Given the description of an element on the screen output the (x, y) to click on. 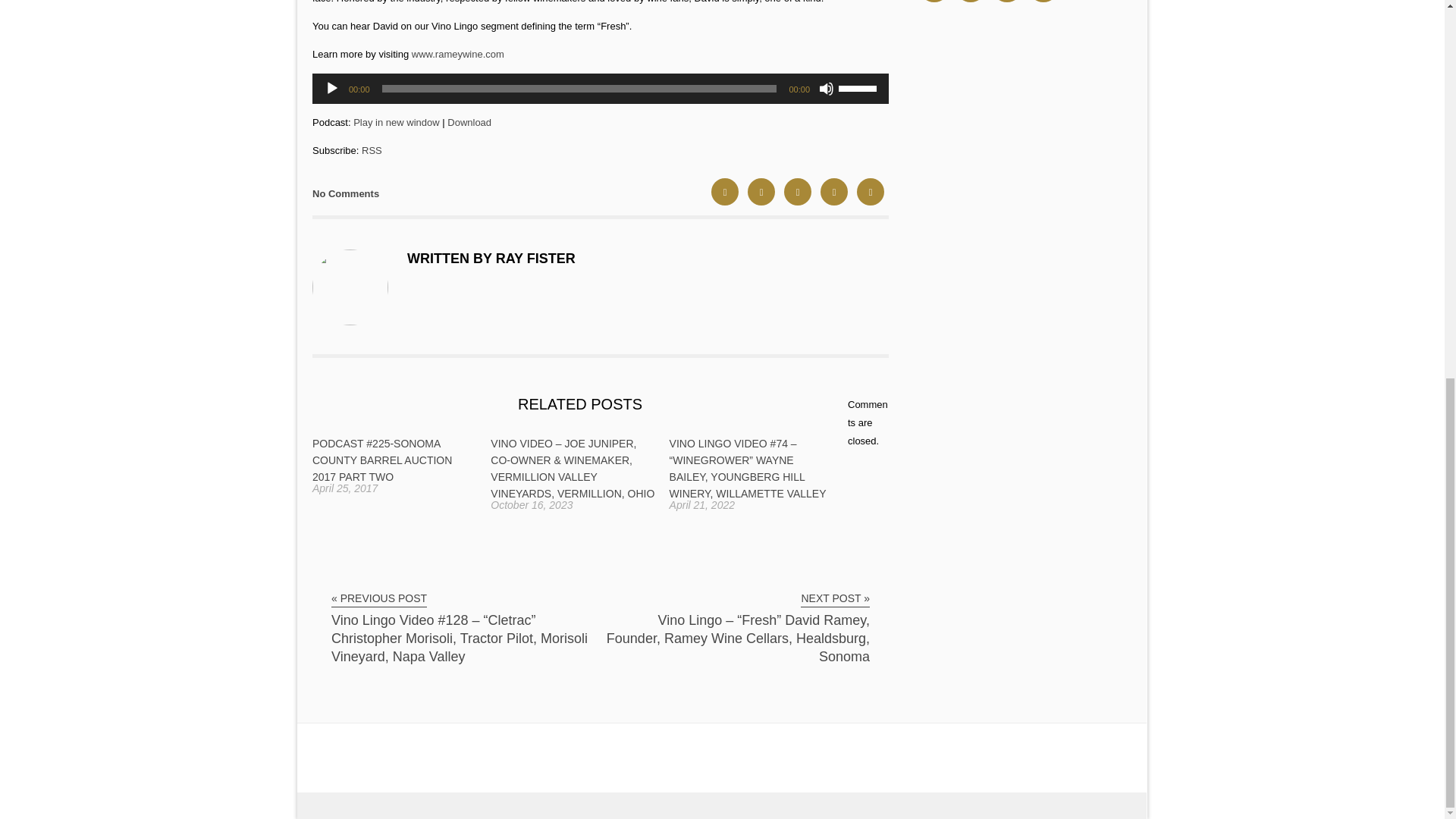
Download (469, 122)
Play in new window (396, 122)
Mute (826, 88)
Play (331, 88)
Download (469, 122)
Play in new window (396, 122)
www.rameywine.com (457, 53)
Subscribe via RSS (371, 150)
RSS (371, 150)
